Given the description of an element on the screen output the (x, y) to click on. 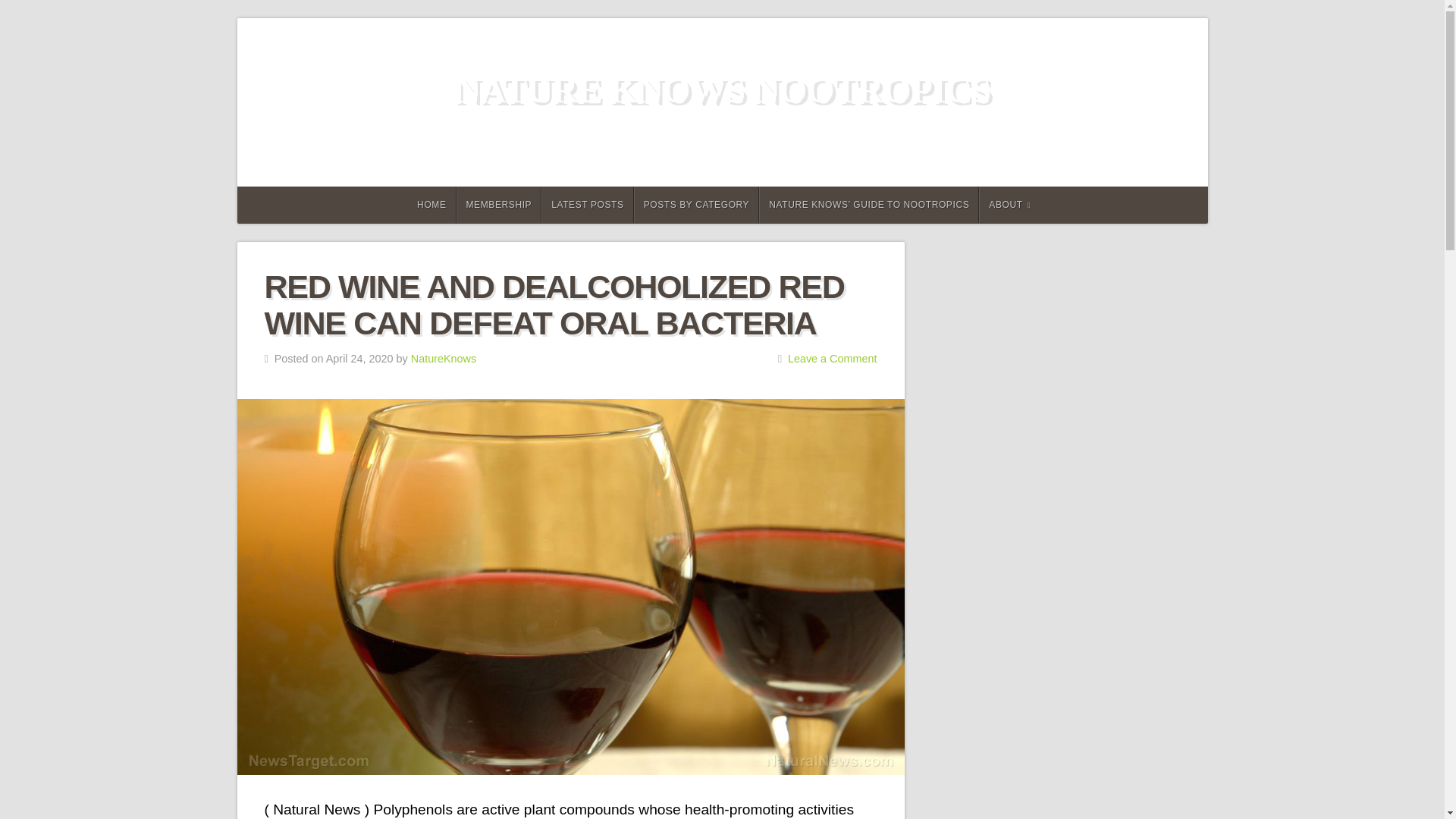
HOME (429, 204)
NatureKnows (443, 357)
POSTS BY CATEGORY (696, 204)
ABOUT (1008, 204)
Leave a Comment (832, 357)
Leave a Comment (832, 357)
NATURE KNOWS NOOTROPICS (722, 89)
MEMBERSHIP (499, 204)
LATEST POSTS (587, 204)
Posts by NatureKnows (443, 357)
